Given the description of an element on the screen output the (x, y) to click on. 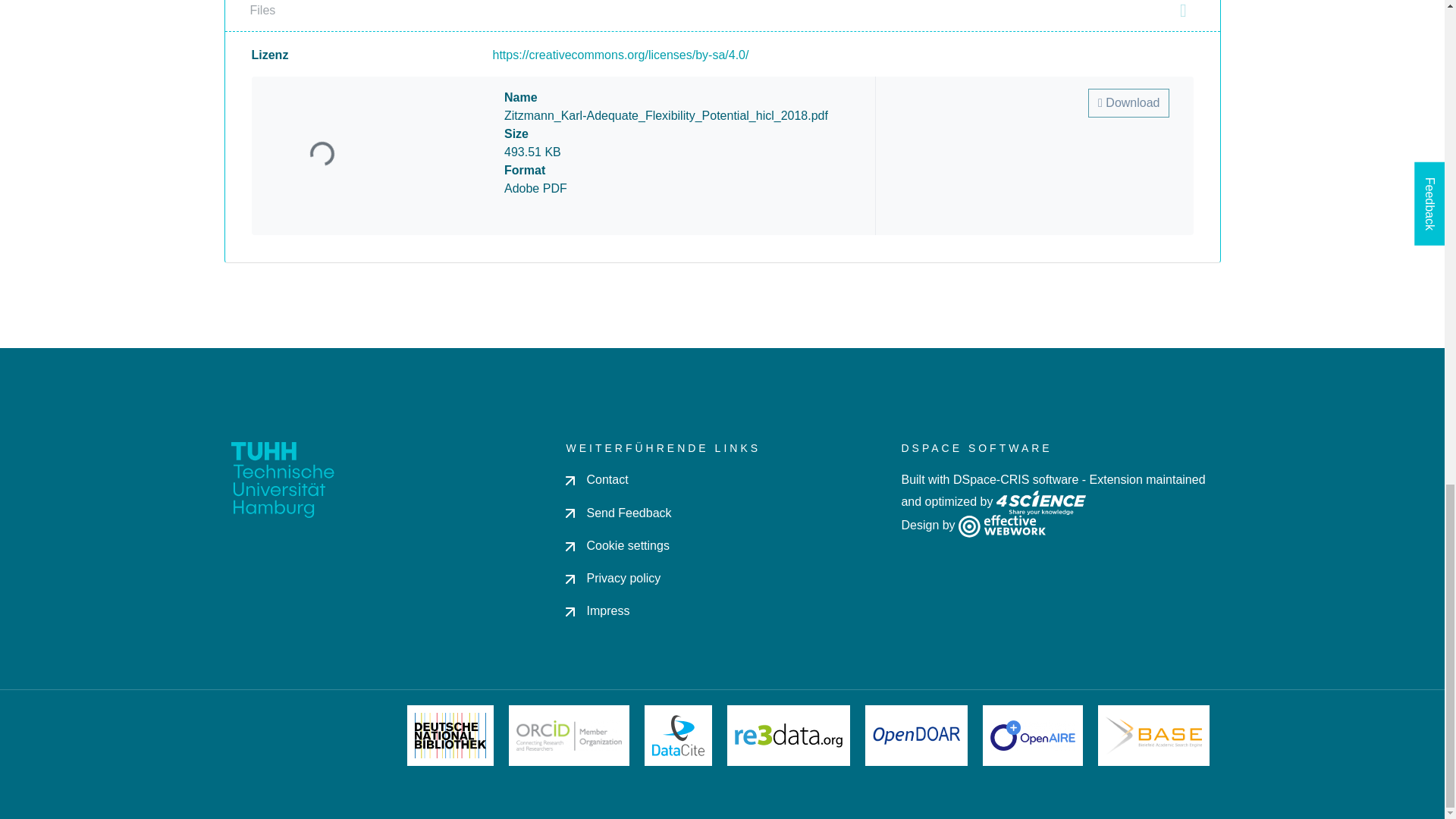
Close section (1183, 10)
effective webwork GmbH Hamburg (1001, 524)
